Given the description of an element on the screen output the (x, y) to click on. 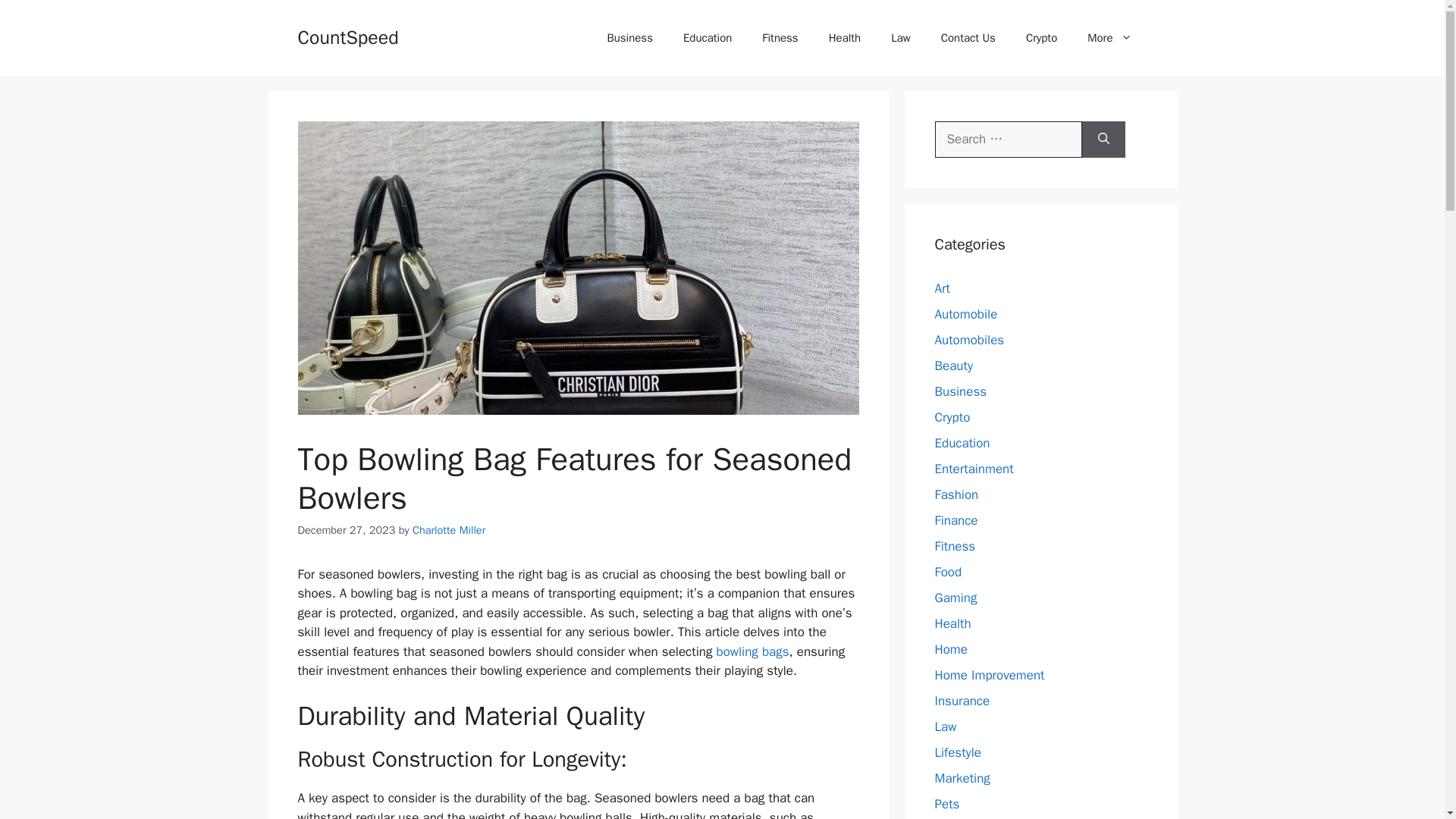
Automobiles (969, 340)
Beauty (953, 365)
Fashion (956, 494)
Education (962, 442)
View all posts by Charlotte Miller (448, 530)
Automobile (965, 314)
CountSpeed (347, 37)
Education (707, 37)
Business (960, 391)
Crypto (951, 417)
Crypto (1040, 37)
Health (844, 37)
Entertainment (973, 468)
Art (941, 288)
Business (629, 37)
